Given the description of an element on the screen output the (x, y) to click on. 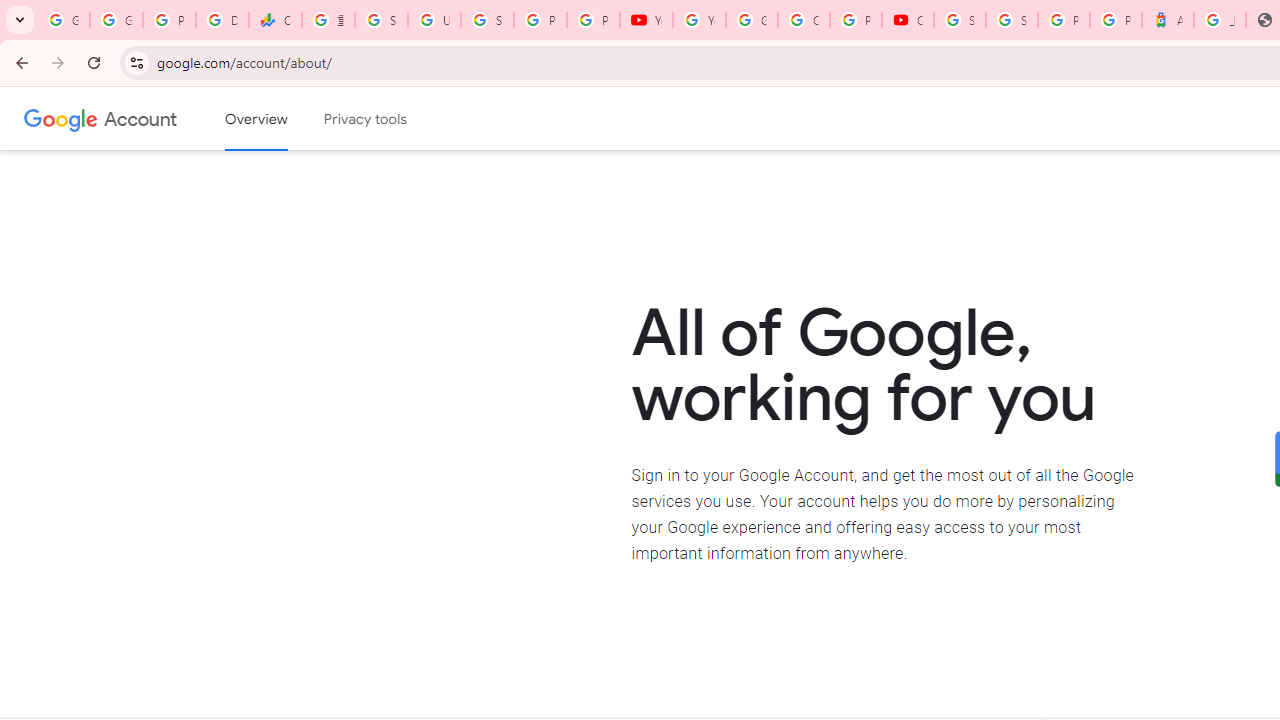
Sign in - Google Accounts (959, 20)
Create your Google Account (803, 20)
Google Account overview (256, 119)
Privacy Checkup (593, 20)
Privacy tools (365, 119)
